Given the description of an element on the screen output the (x, y) to click on. 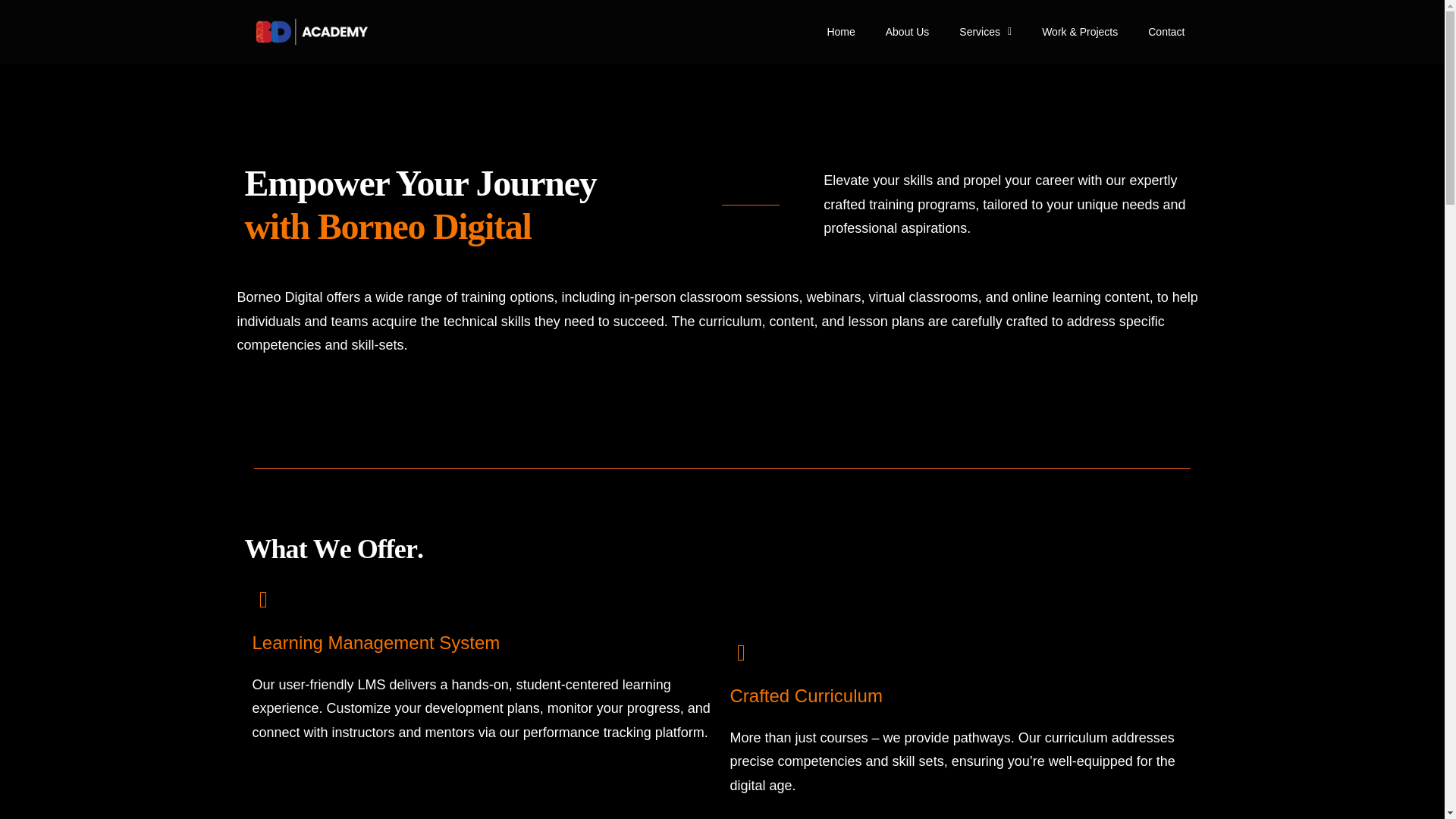
Contact (1165, 31)
Services (984, 31)
About Us (907, 31)
Home (839, 31)
